Given the description of an element on the screen output the (x, y) to click on. 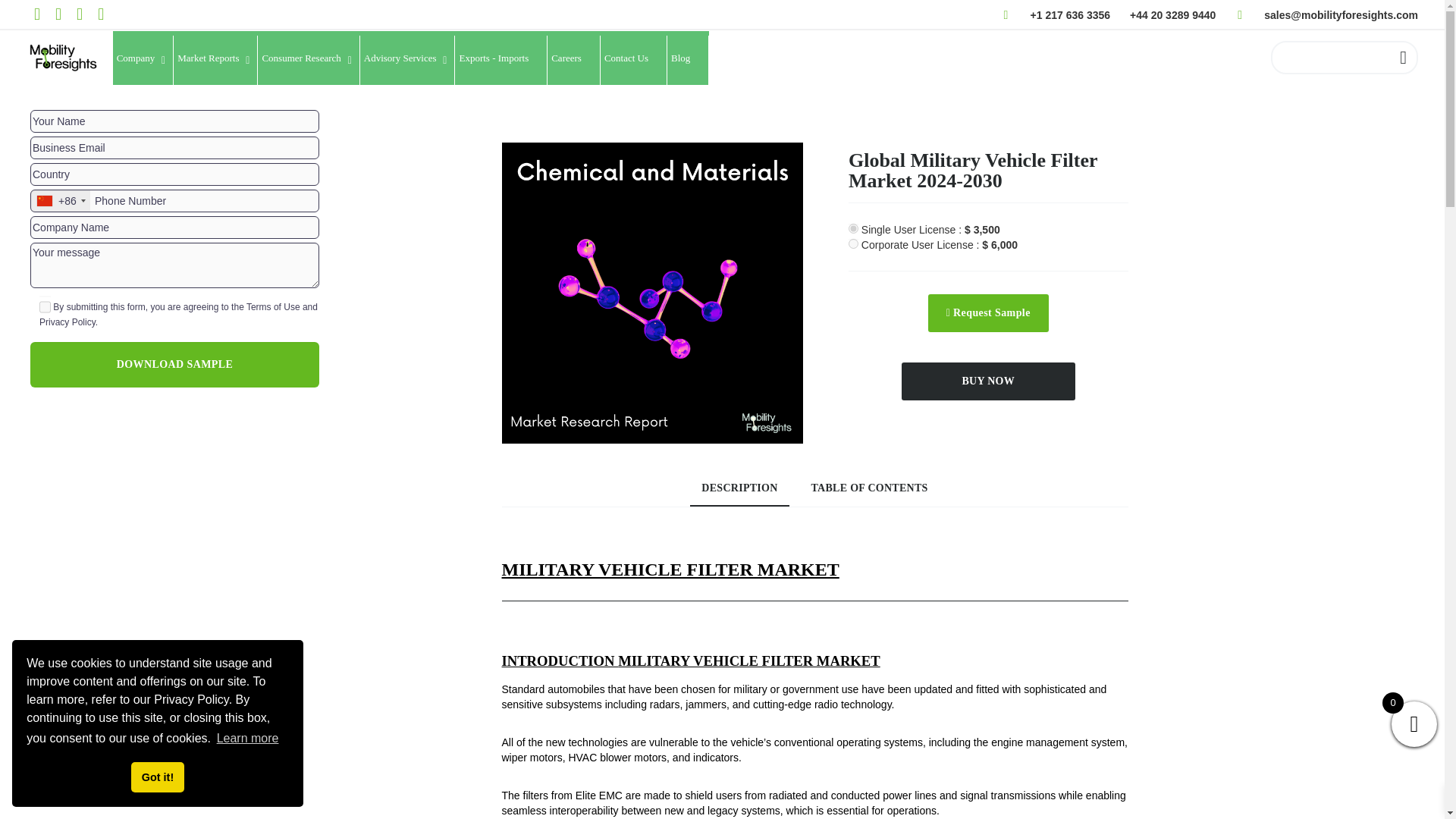
6000 (853, 243)
Global Military Vehicle Filter Market 2024-2030 (652, 292)
Company (143, 60)
Market Reports (215, 60)
3500 (853, 228)
DOWNLOAD SAMPLE (174, 364)
